Given the description of an element on the screen output the (x, y) to click on. 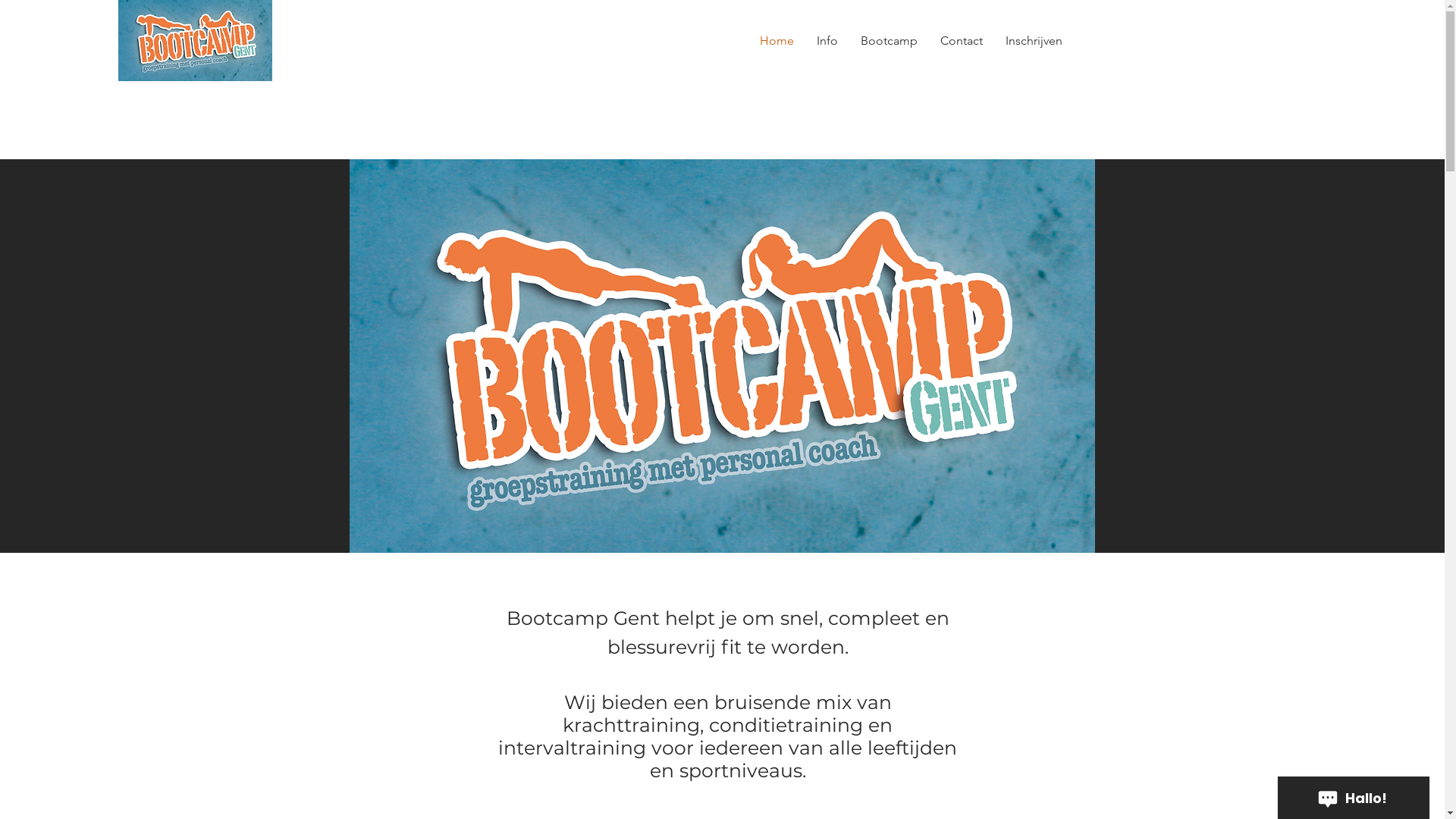
Contact Element type: text (961, 40)
Inschrijven Element type: text (1033, 40)
Home Element type: text (776, 40)
Bootcamp Element type: text (888, 40)
Info Element type: text (827, 40)
